Given the description of an element on the screen output the (x, y) to click on. 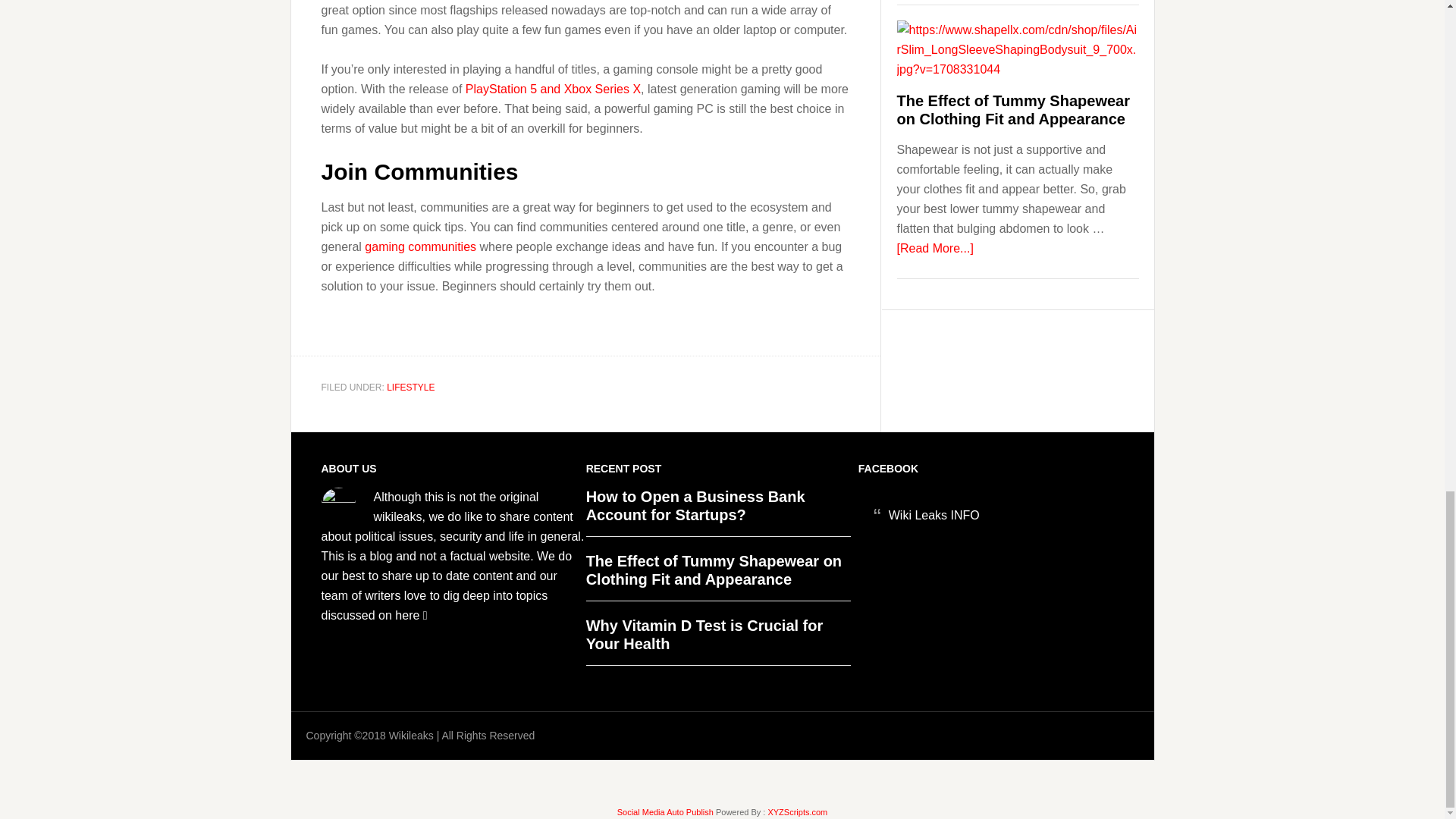
The Effect of Tummy Shapewear on Clothing Fit and Appearance (1012, 109)
PlayStation 5 and Xbox Series X (552, 88)
gaming communities (420, 246)
Social Media Auto Publish (665, 811)
The Effect of Tummy Shapewear on Clothing Fit and Appearance (713, 570)
How to Open a Business Bank Account for Startups? (695, 505)
LIFESTYLE (410, 387)
